Given the description of an element on the screen output the (x, y) to click on. 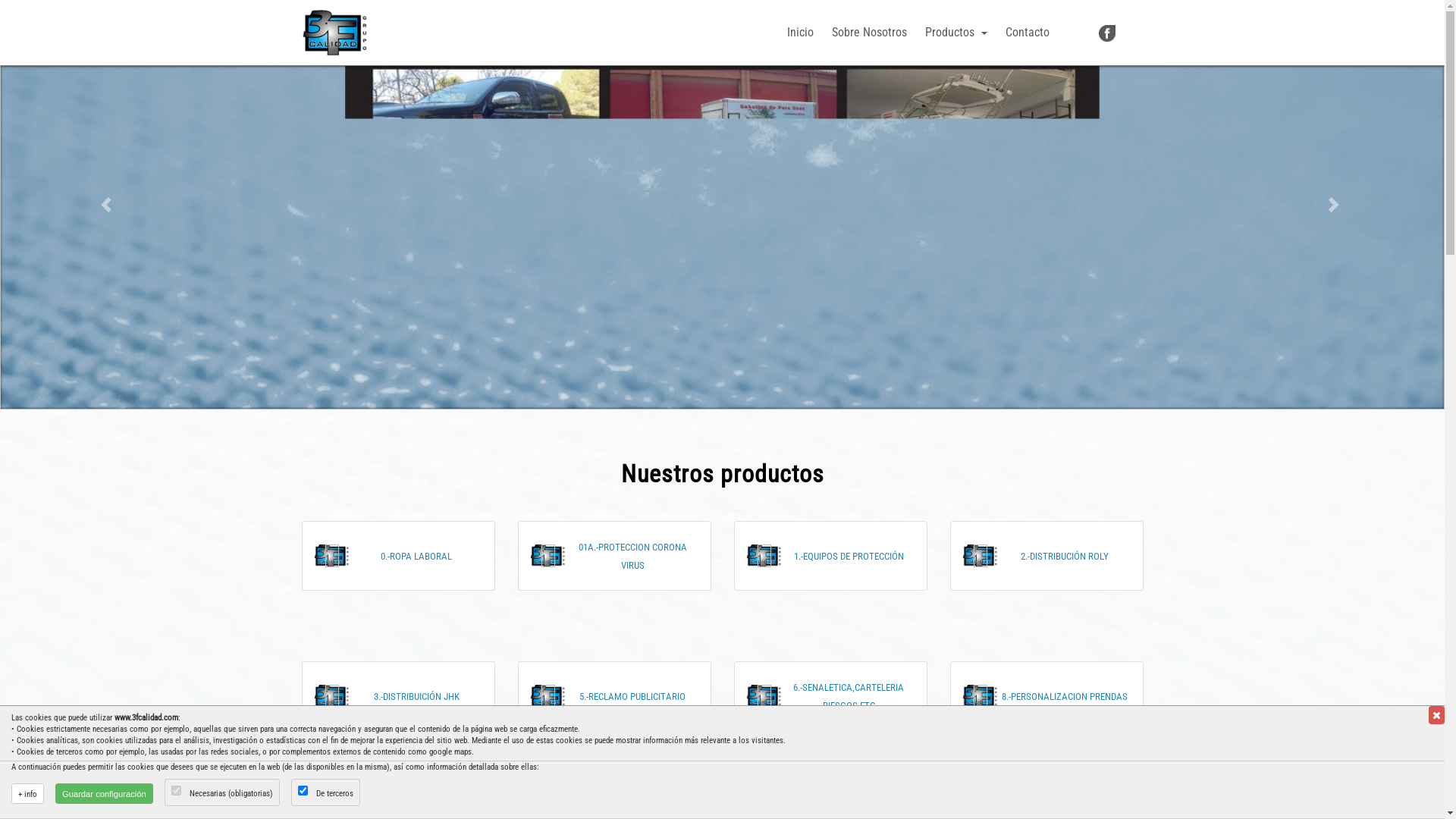
Inicio
(current) Element type: text (800, 32)
6.-SENALETICA,CARTELERIA RIESGOS,ETC Element type: text (848, 695)
Next Element type: text (1335, 204)
Productos Element type: text (956, 32)
0.-ROPA LABORAL Element type: text (415, 555)
01A.-PROTECCION CORONA VIRUS Element type: text (632, 555)
+ info Element type: text (27, 793)
8.-PERSONALIZACION PRENDAS Element type: text (1064, 695)
5.-RECLAMO PUBLICITARIO Element type: text (632, 695)
Contacto Element type: text (1027, 32)
Uso de cookies Element type: text (39, 809)
Previous Element type: text (108, 204)
Sobre Nosotros Element type: text (869, 32)
